Given the description of an element on the screen output the (x, y) to click on. 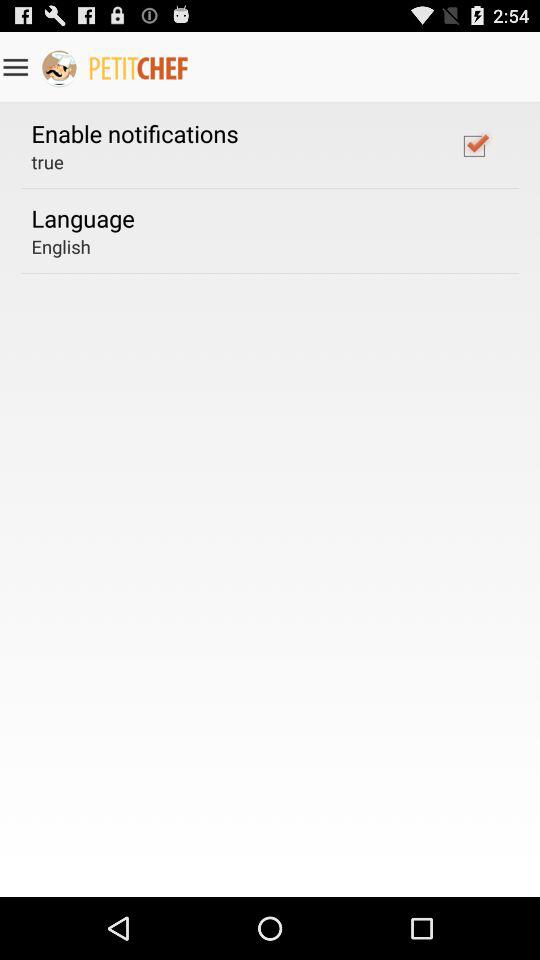
flip until language app (82, 218)
